Given the description of an element on the screen output the (x, y) to click on. 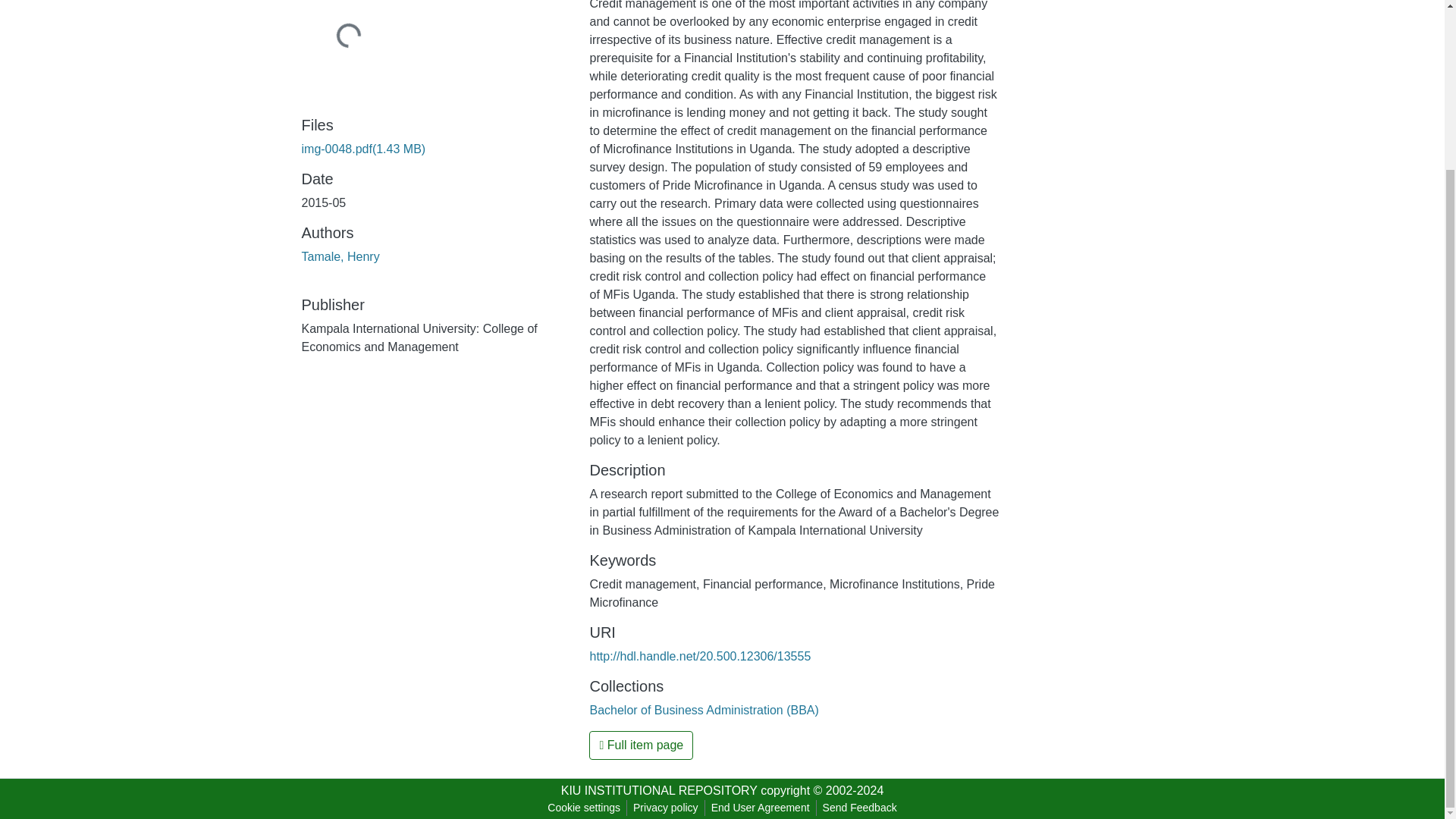
Privacy policy (665, 807)
Cookie settings (583, 807)
Send Feedback (859, 807)
Tamale, Henry (340, 256)
End User Agreement (759, 807)
Full item page (641, 745)
KIU INSTITUTIONAL REPOSITORY (658, 789)
